Given the description of an element on the screen output the (x, y) to click on. 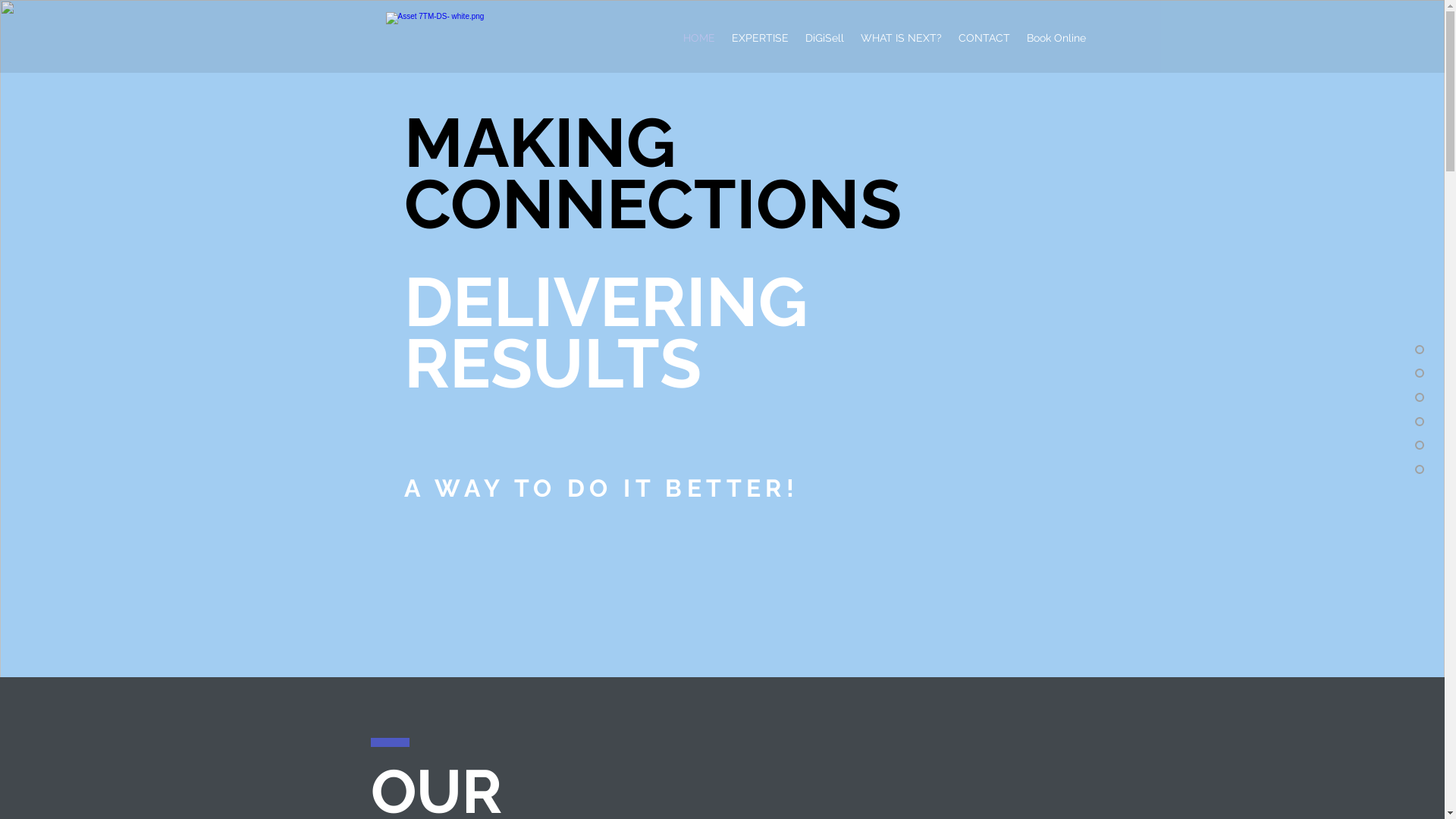
HOME Element type: text (698, 37)
CONTACT Element type: text (983, 37)
DiGiSell Element type: text (823, 37)
Book Online Element type: text (1055, 37)
WHAT IS NEXT? Element type: text (901, 37)
EXPERTISE Element type: text (760, 37)
